Given the description of an element on the screen output the (x, y) to click on. 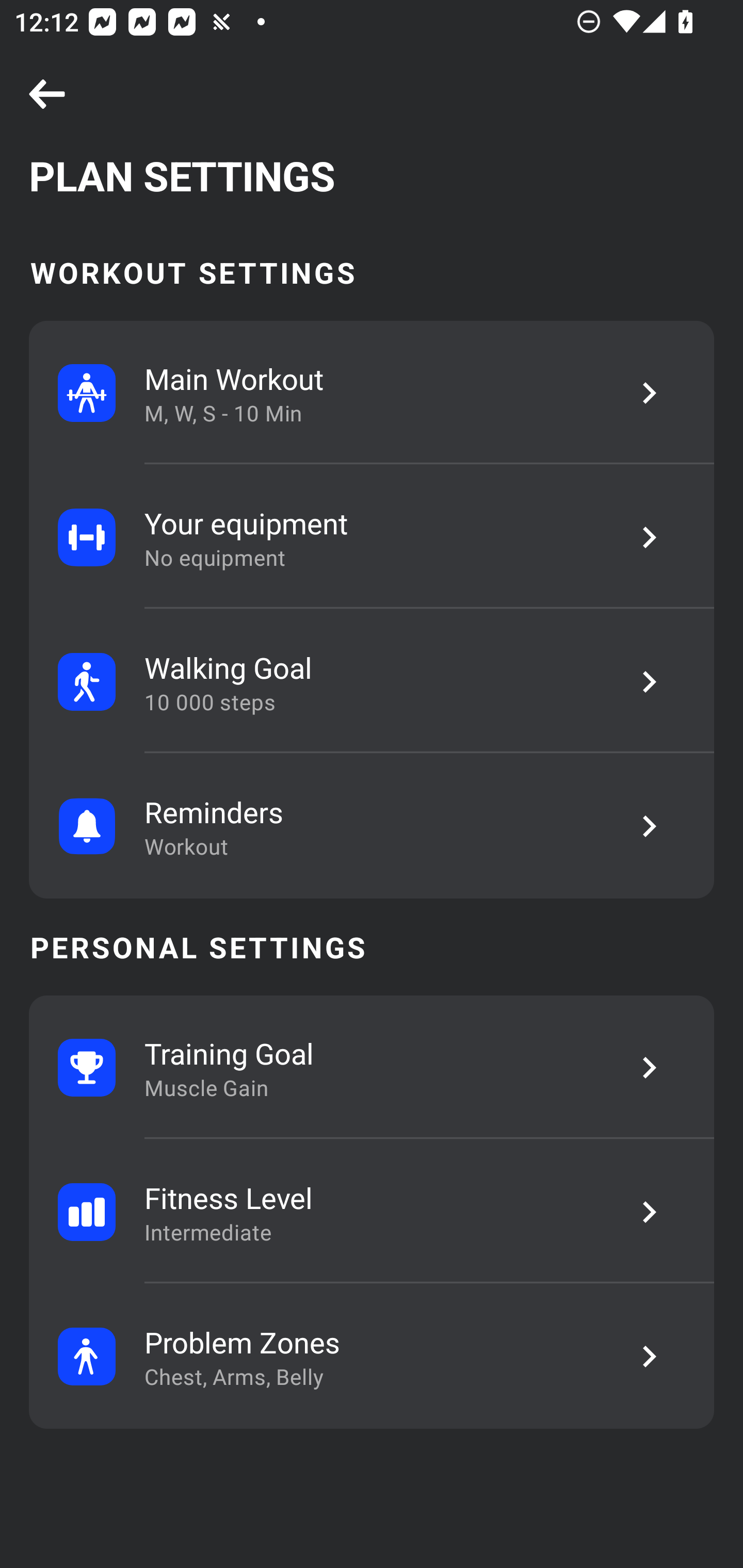
Navigation icon (46, 94)
EQUIPMENT Your equipment No equipment EQUIPMENT (371, 537)
REMINDERS Reminders Workout REMINDERS (371, 826)
